Given the description of an element on the screen output the (x, y) to click on. 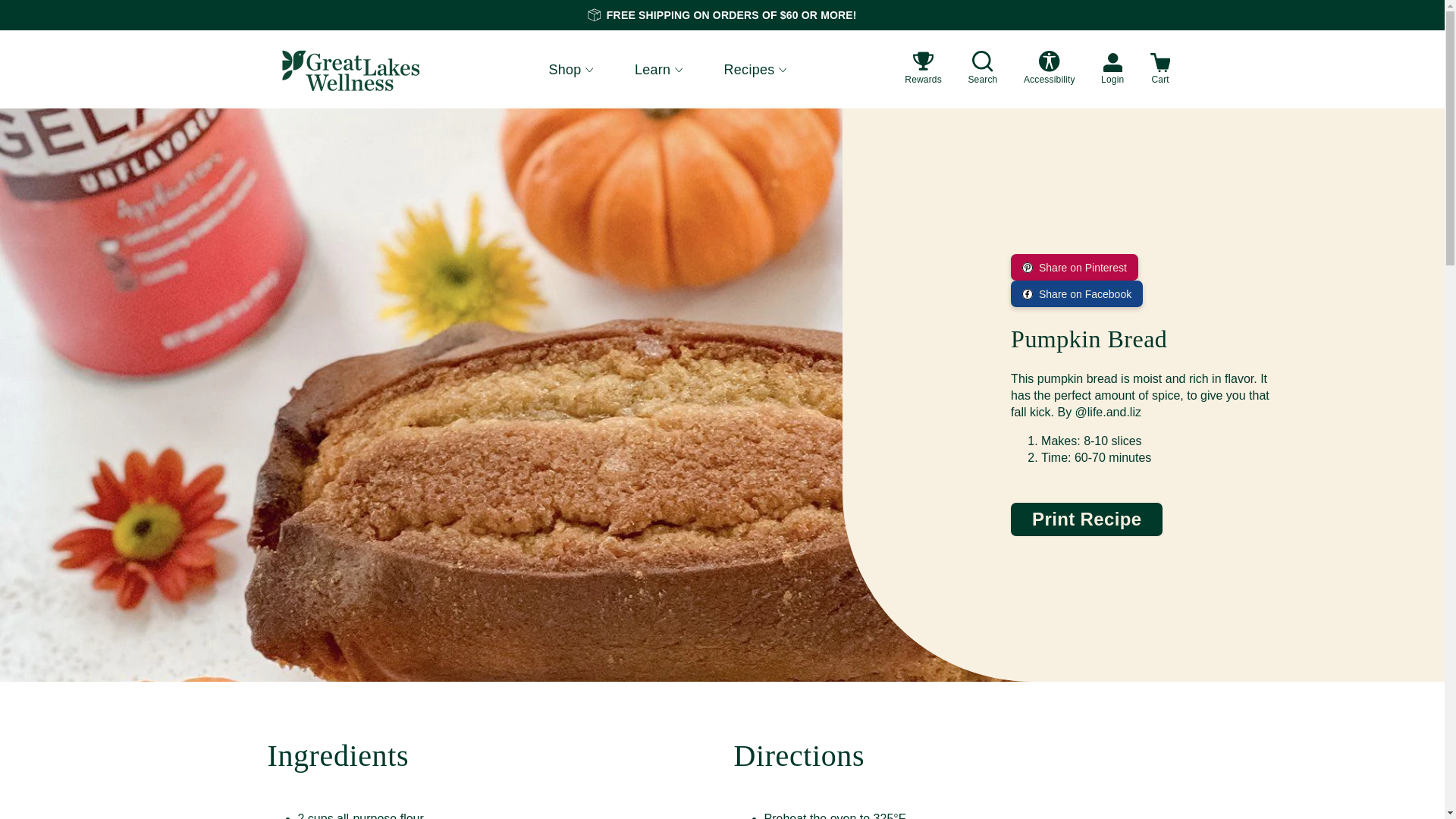
Learn (658, 68)
Shop (570, 68)
Search (982, 69)
Accessibility (1049, 69)
Rewards (923, 69)
Recipes (755, 68)
